Given the description of an element on the screen output the (x, y) to click on. 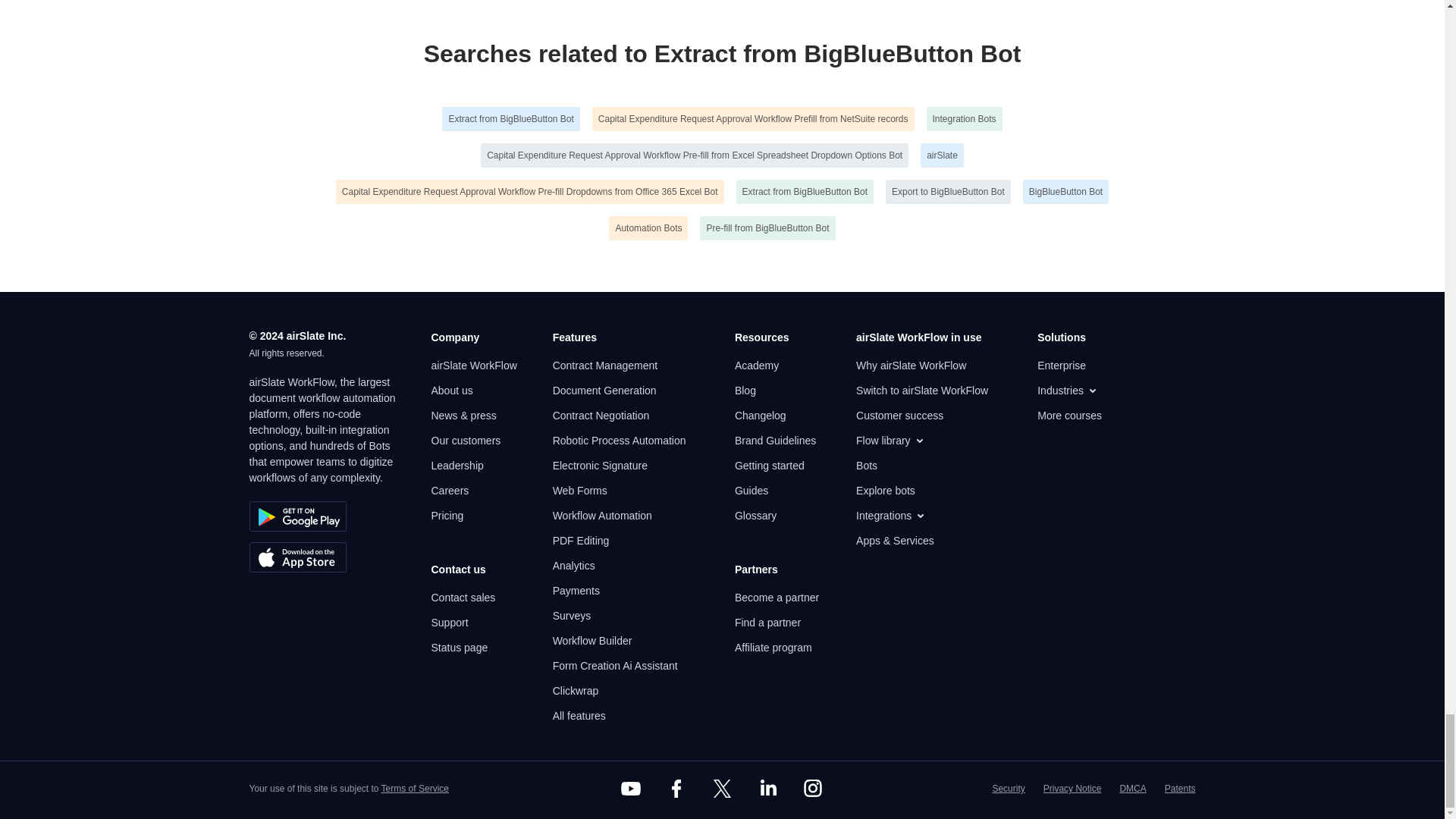
YouTube (630, 788)
Instagram (812, 788)
LinkedIn (767, 788)
Twitter (721, 788)
Facebook (676, 788)
